Given the description of an element on the screen output the (x, y) to click on. 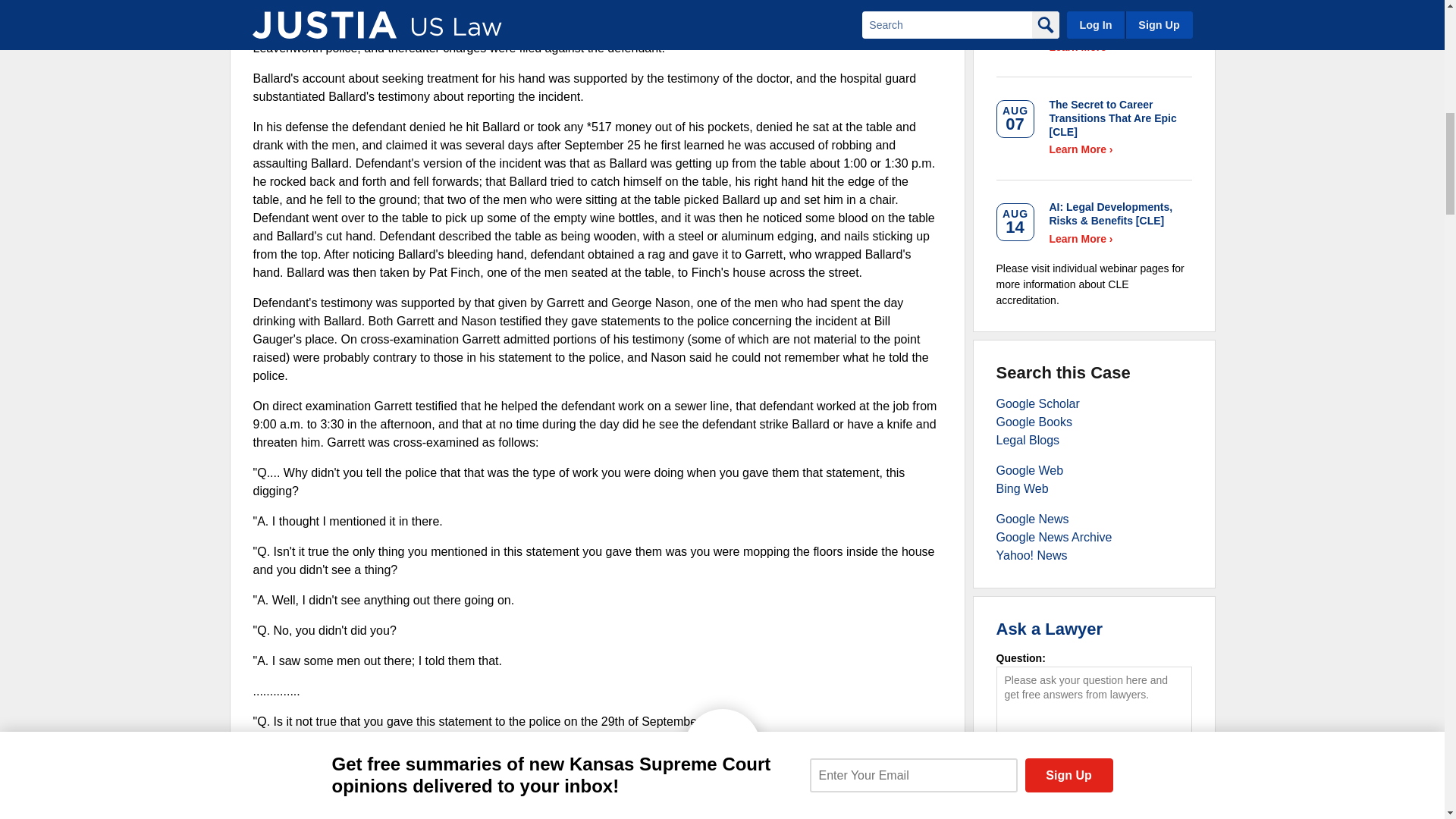
Law - Google News Archive (1053, 536)
Law - Google Scholar (1037, 403)
Law - Google News (1031, 518)
Law - Bing Web (1021, 488)
Law - Google Books (1034, 421)
Law - Legal Blogs (1027, 440)
Law - Yahoo! News (1031, 554)
Law - Google Web (1029, 470)
